Given the description of an element on the screen output the (x, y) to click on. 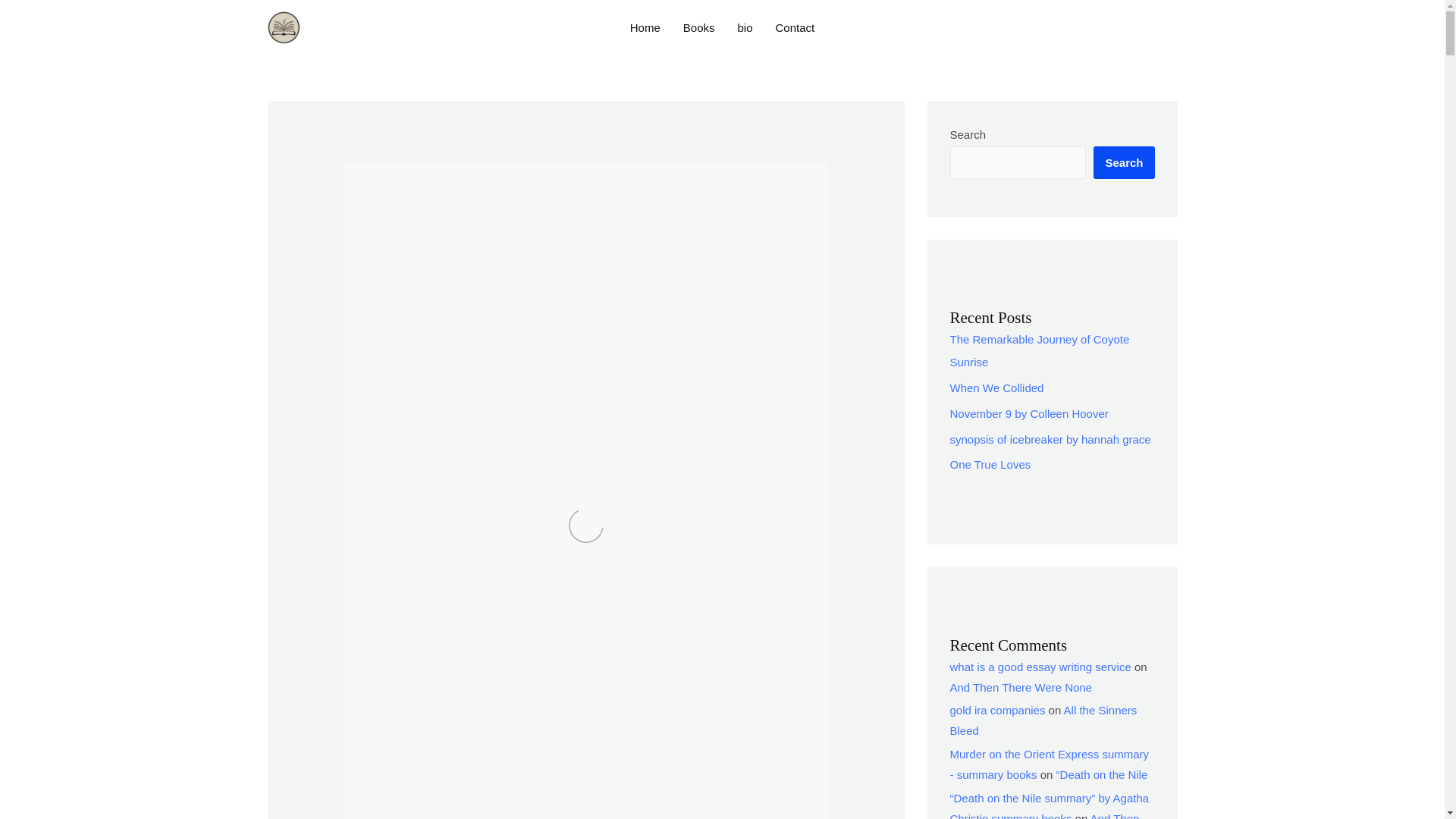
Books (698, 27)
Home (644, 27)
And Then There Were None (1043, 815)
Murder on the Orient Express summary - summary books (1048, 764)
November 9 by Colleen Hoover (1028, 413)
gold ira companies (997, 709)
Search (1123, 162)
synopsis of icebreaker by hannah grace (1049, 439)
One True Loves (989, 463)
And Then There Were None (1020, 686)
